Given the description of an element on the screen output the (x, y) to click on. 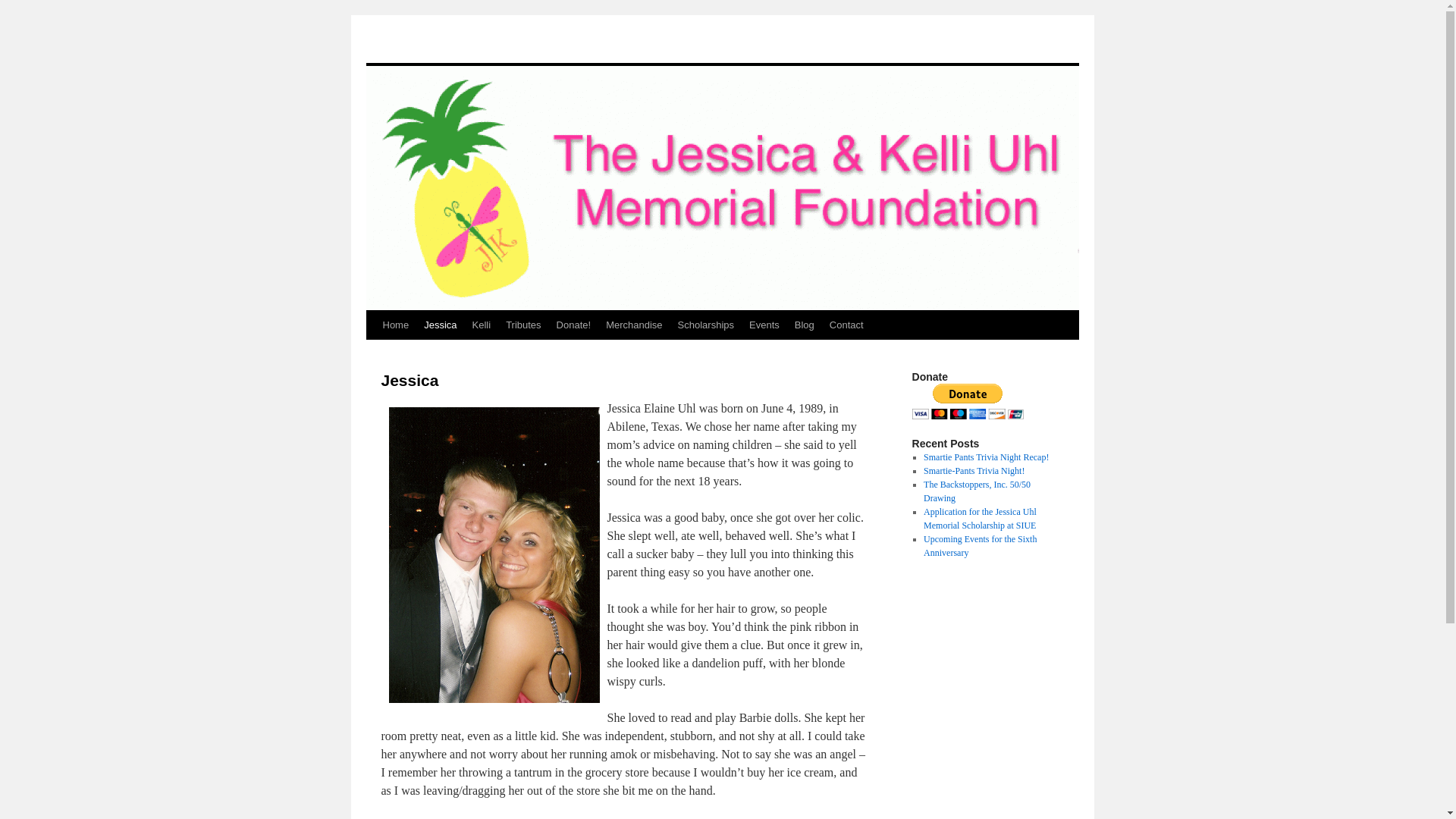
Donation (967, 416)
Contact (846, 325)
Smartie-Pants Trivia Night! (974, 470)
Tributes (522, 325)
Smartie Pants Trivia Night Recap! (985, 457)
Events (764, 325)
Blog (804, 325)
Scholarships (705, 325)
Jessica (440, 325)
Application for the Jessica Uhl Memorial Scholarship at SIUE (979, 518)
Upcoming Events for the Sixth Anniversary (979, 545)
Kelli (481, 325)
Merchandise (633, 325)
Donate! (573, 325)
Home (395, 325)
